Given the description of an element on the screen output the (x, y) to click on. 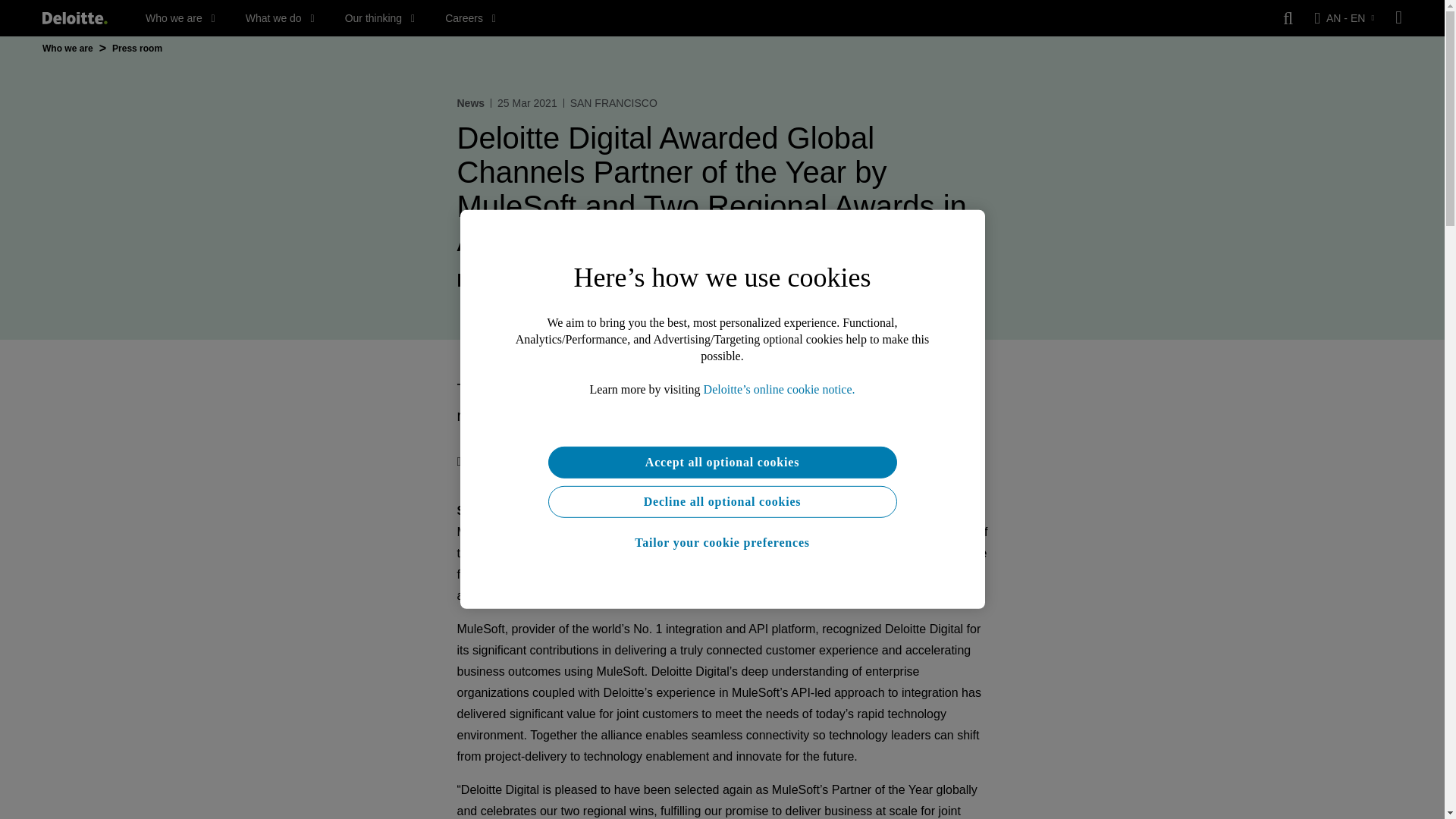
share via facebook (528, 461)
Who we are (180, 18)
share via email (588, 461)
What we do (280, 18)
Print (474, 461)
Careers (470, 18)
Deloitte (74, 18)
share via linkedin (558, 461)
Our thinking (379, 18)
